Given the description of an element on the screen output the (x, y) to click on. 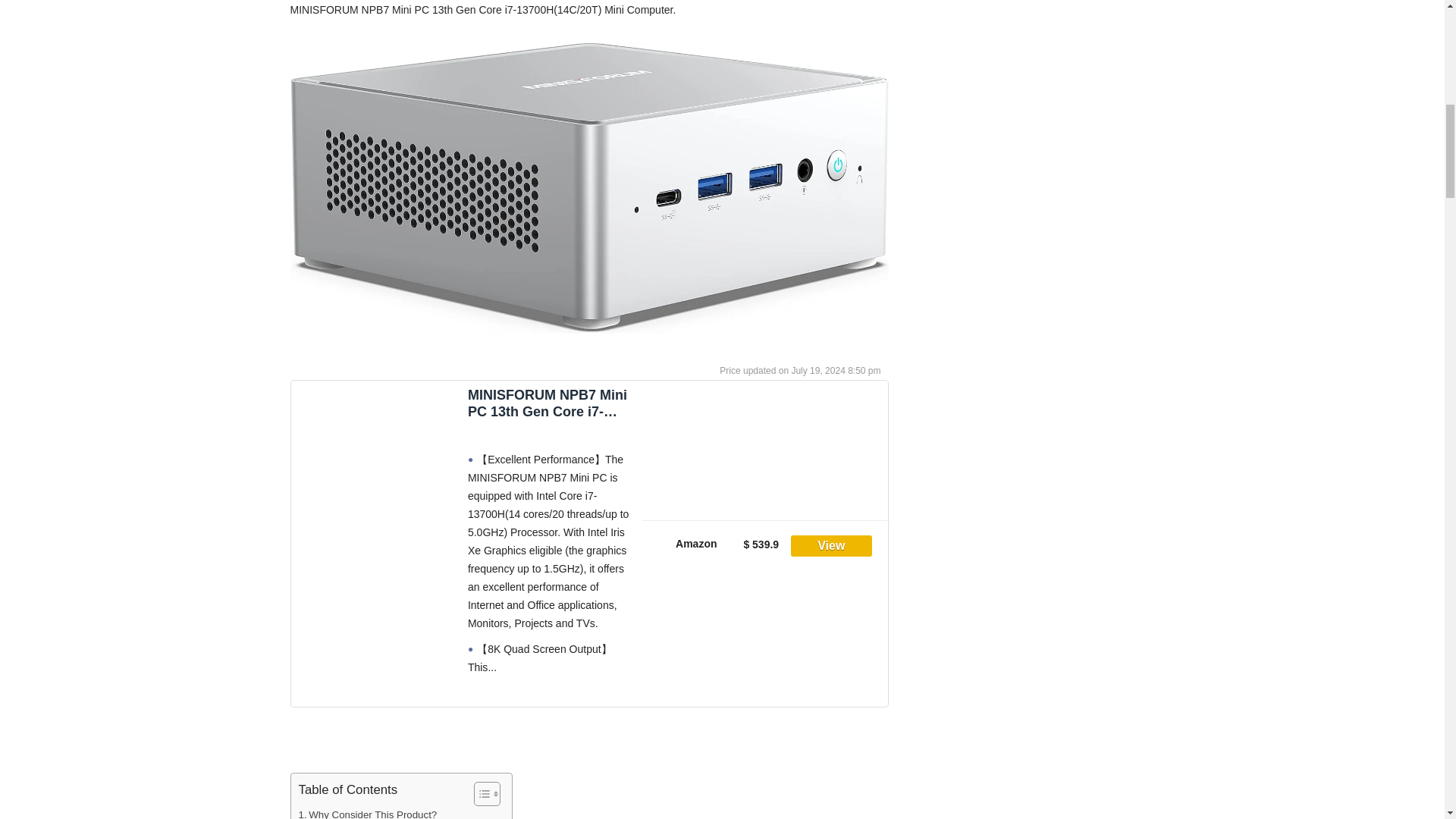
Why Consider This Product? (368, 812)
Why Consider This Product? (368, 812)
